Given the description of an element on the screen output the (x, y) to click on. 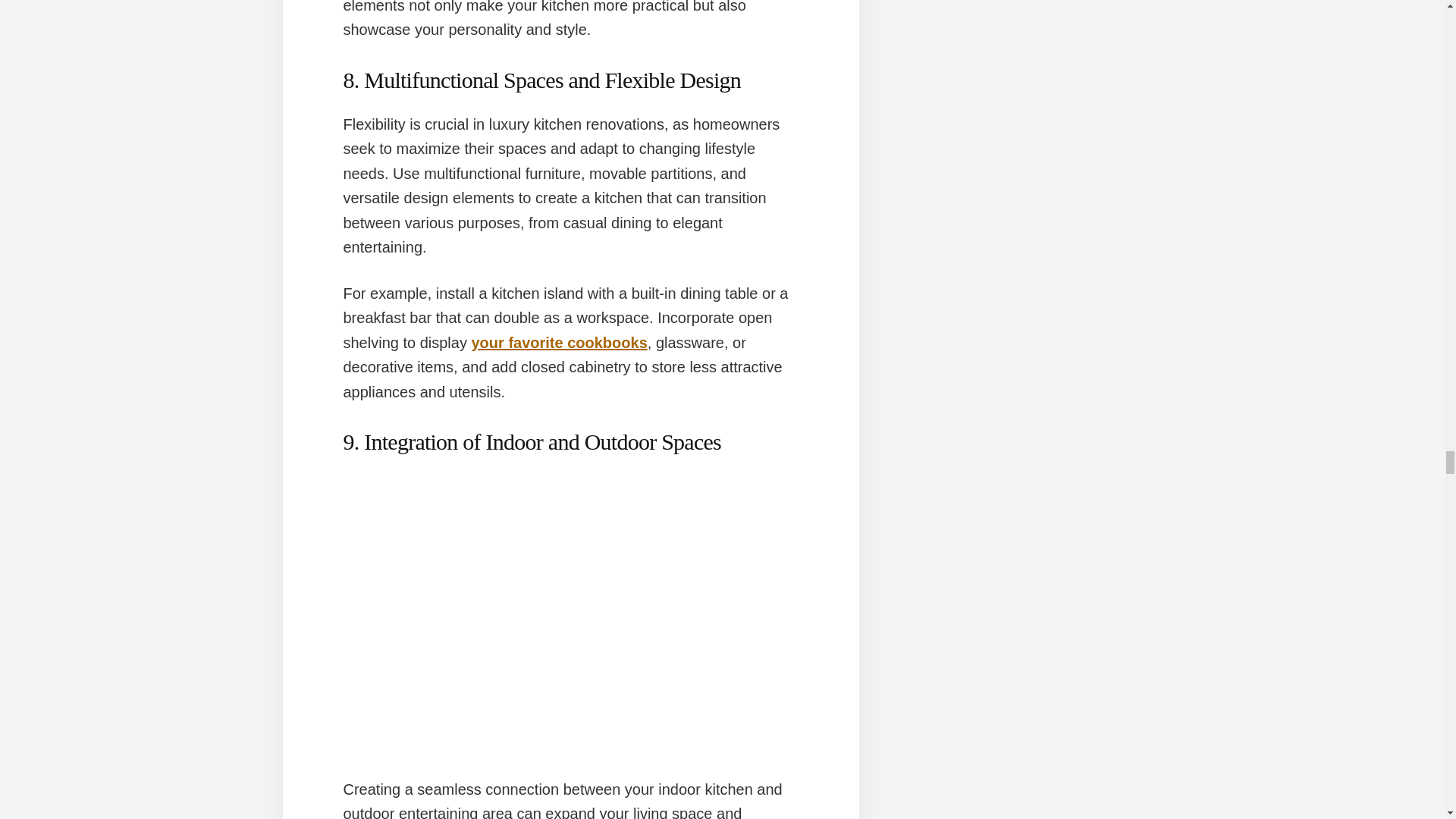
your favorite cookbooks (558, 342)
